Given the description of an element on the screen output the (x, y) to click on. 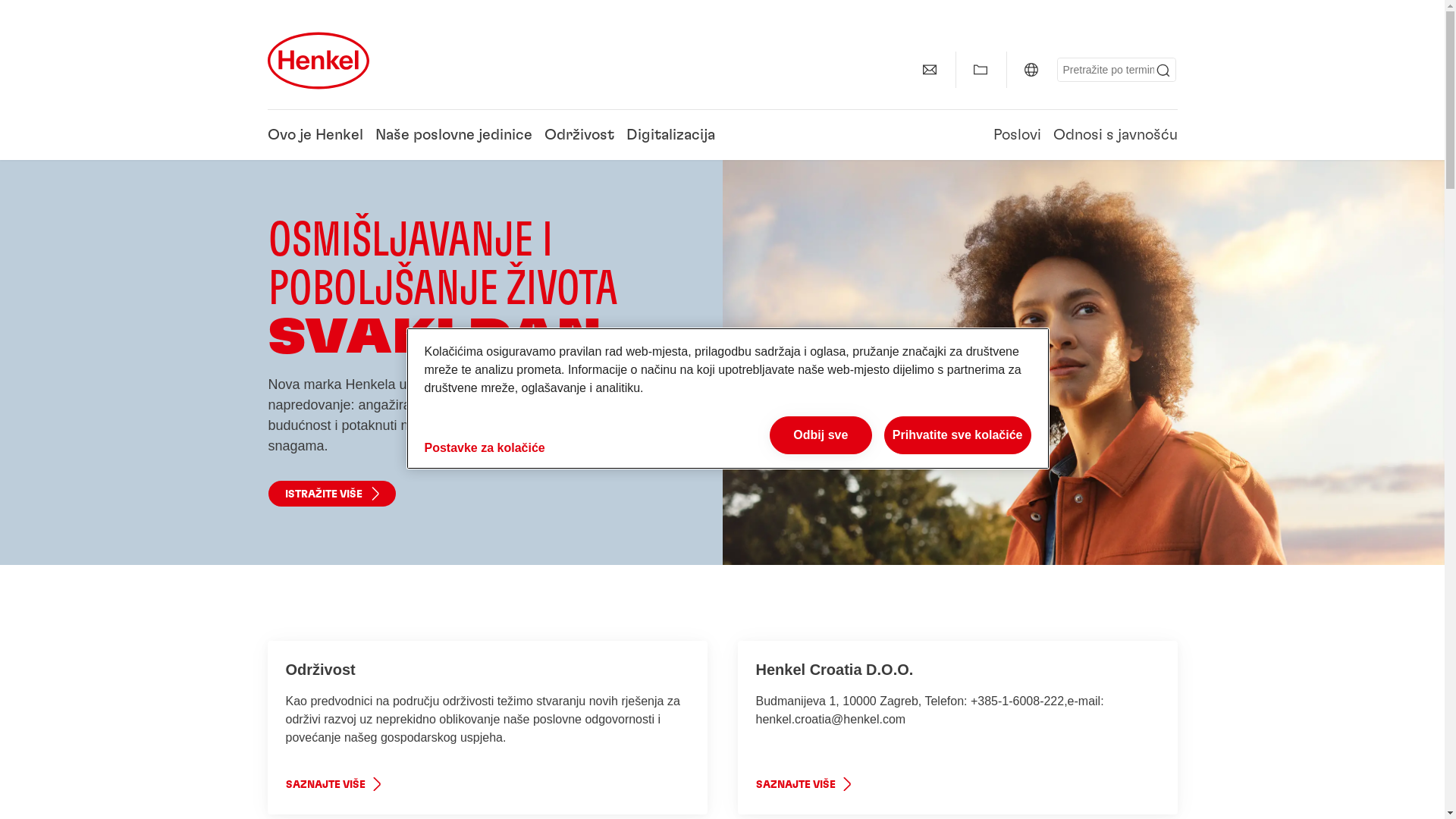
Digitalizacija Element type: text (670, 140)
Odbij sve Element type: text (820, 435)
Ovo je Henkel Element type: text (314, 140)
Poslovi Element type: text (1017, 140)
